Given the description of an element on the screen output the (x, y) to click on. 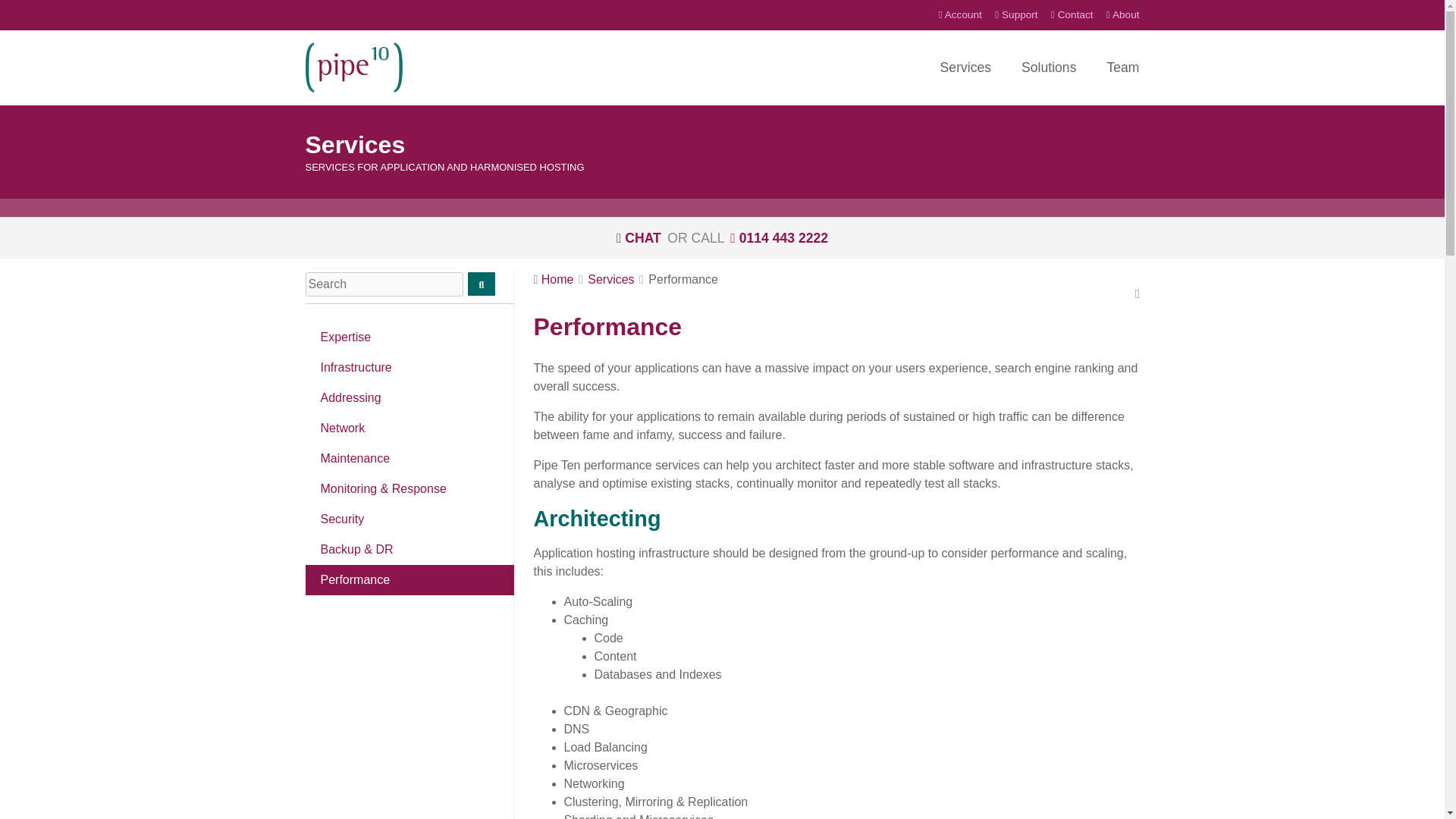
Contact (1072, 15)
Security (408, 519)
Solutions (1048, 67)
Expertise (408, 337)
Addressing (408, 398)
Pipe Ten (353, 67)
Maintenance (408, 458)
Services (965, 67)
Network (408, 428)
